Given the description of an element on the screen output the (x, y) to click on. 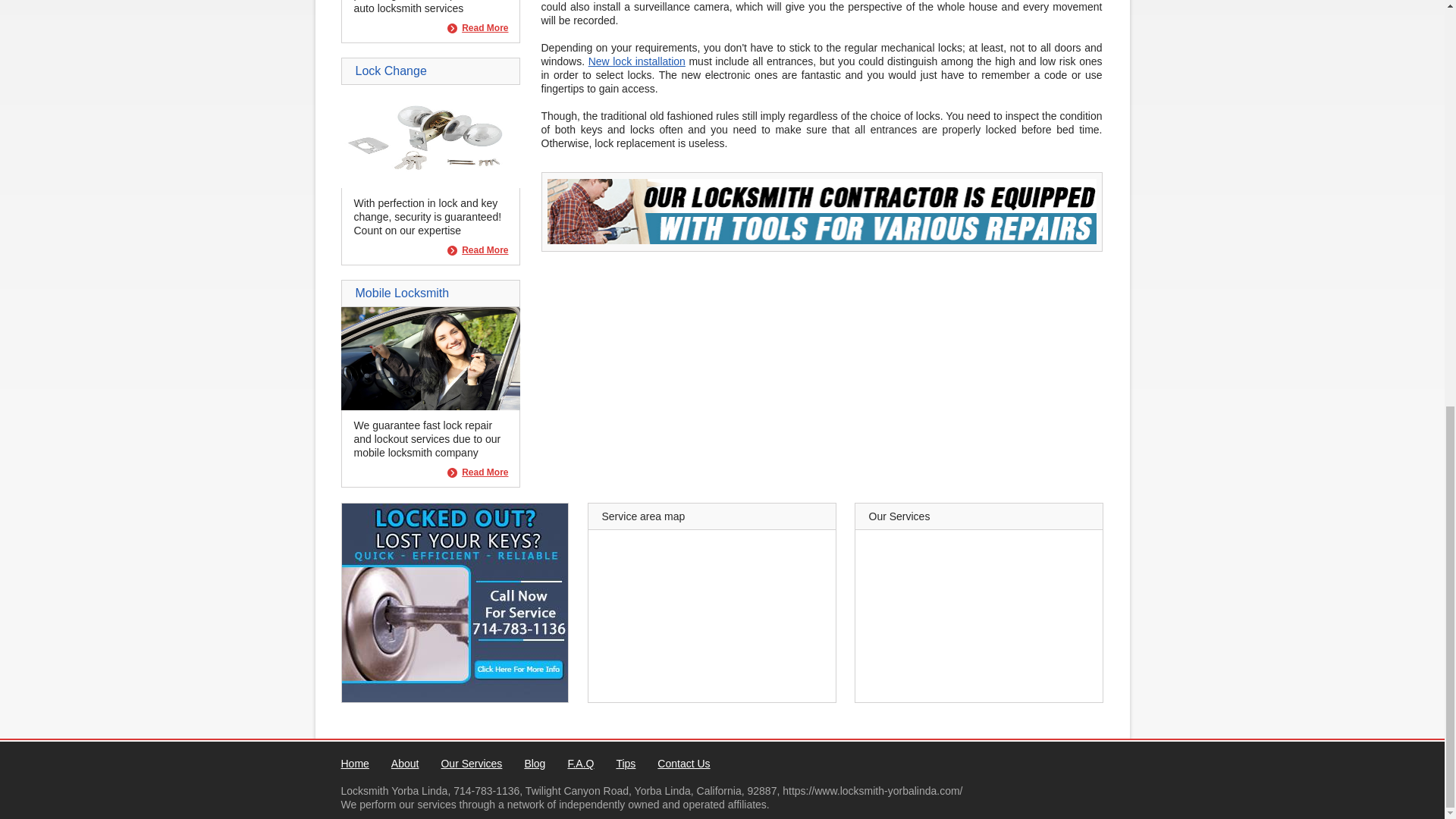
Mobile Locksmith (429, 406)
New lock installation (636, 61)
Read More (477, 472)
Lock Change (390, 70)
Home (354, 763)
Read More (477, 28)
Read More (477, 250)
Read More (477, 250)
Banner (821, 240)
Lock Change (429, 184)
About (405, 763)
Read More (477, 472)
Mobile Locksmith (401, 292)
Read More (477, 28)
